Given the description of an element on the screen output the (x, y) to click on. 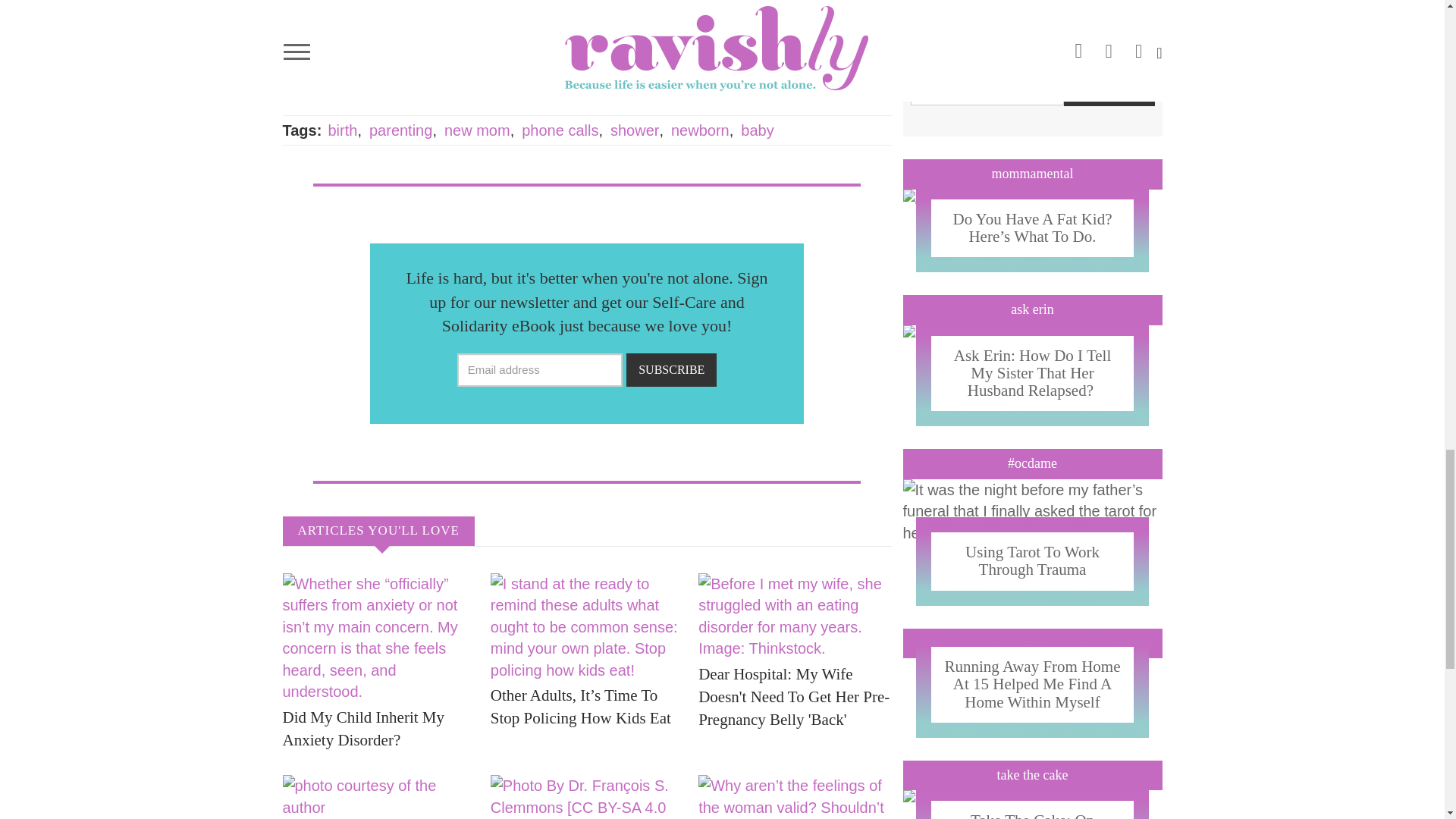
SUBSCRIBE (1109, 89)
SUBSCRIBE (671, 369)
